Given the description of an element on the screen output the (x, y) to click on. 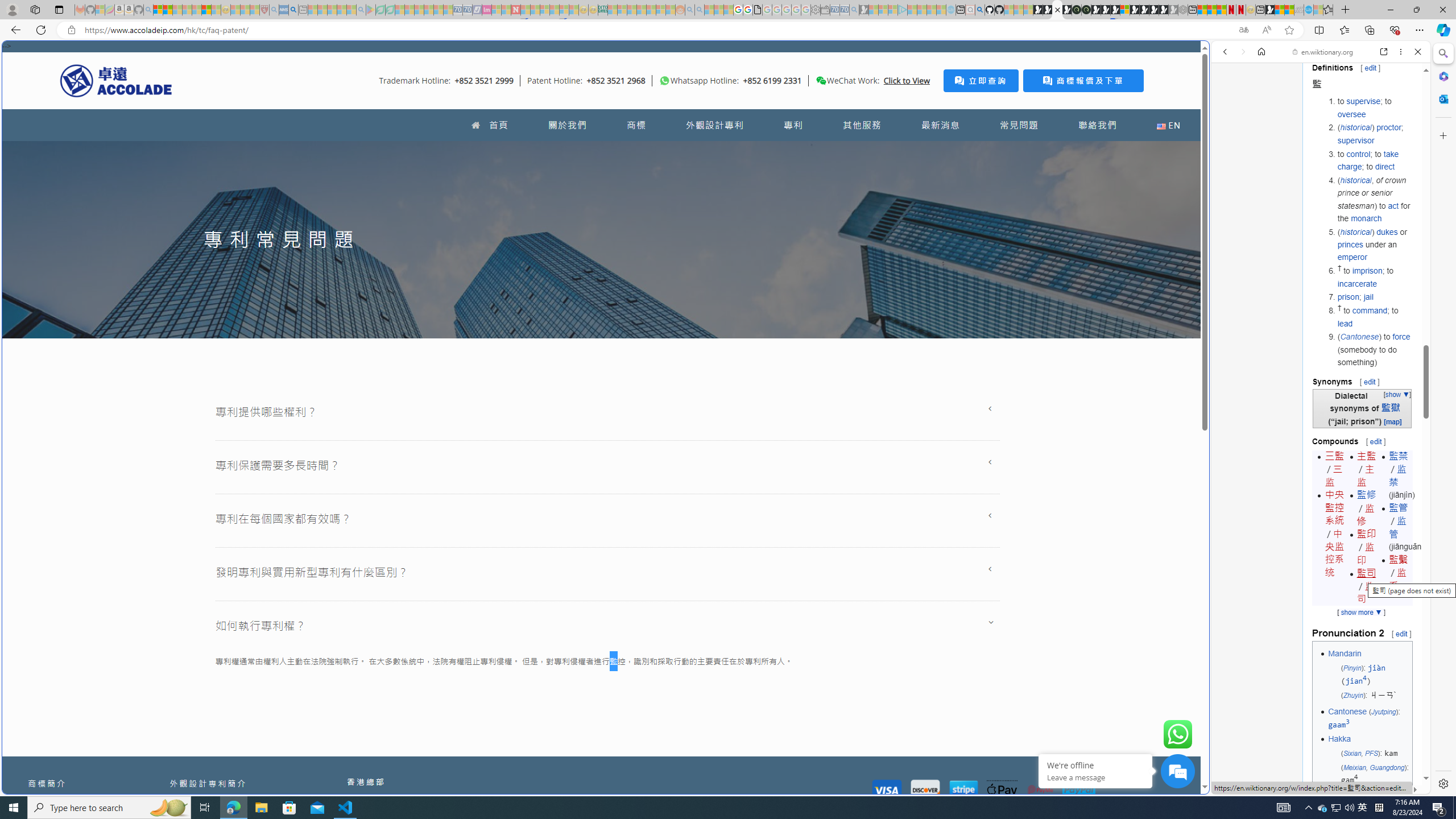
Microsoft Start Gaming - Sleeping (863, 9)
Read aloud this page (Ctrl+Shift+U) (1266, 29)
Settings (1442, 783)
google_privacy_policy_zh-CN.pdf (1118, 683)
Refresh (40, 29)
Tab actions menu (58, 9)
Show translate options (1243, 29)
Web scope (1230, 102)
